Given the description of an element on the screen output the (x, y) to click on. 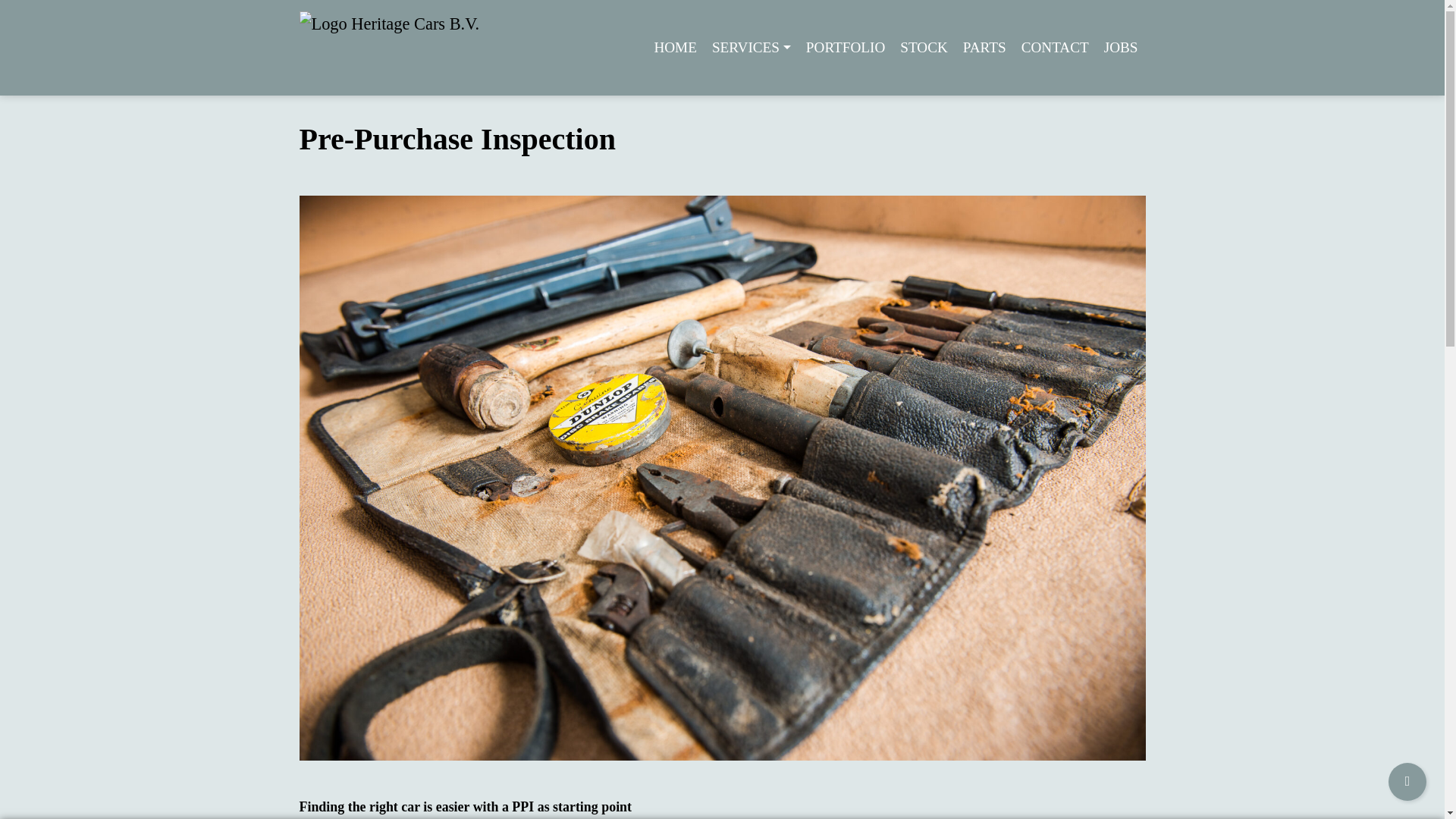
STOCK (923, 48)
SERVICES (750, 48)
CONTACT (1054, 48)
Heritage Cars B.V. (389, 47)
JOBS (1120, 48)
PARTS (984, 48)
PORTFOLIO (844, 48)
HOME (675, 48)
